Given the description of an element on the screen output the (x, y) to click on. 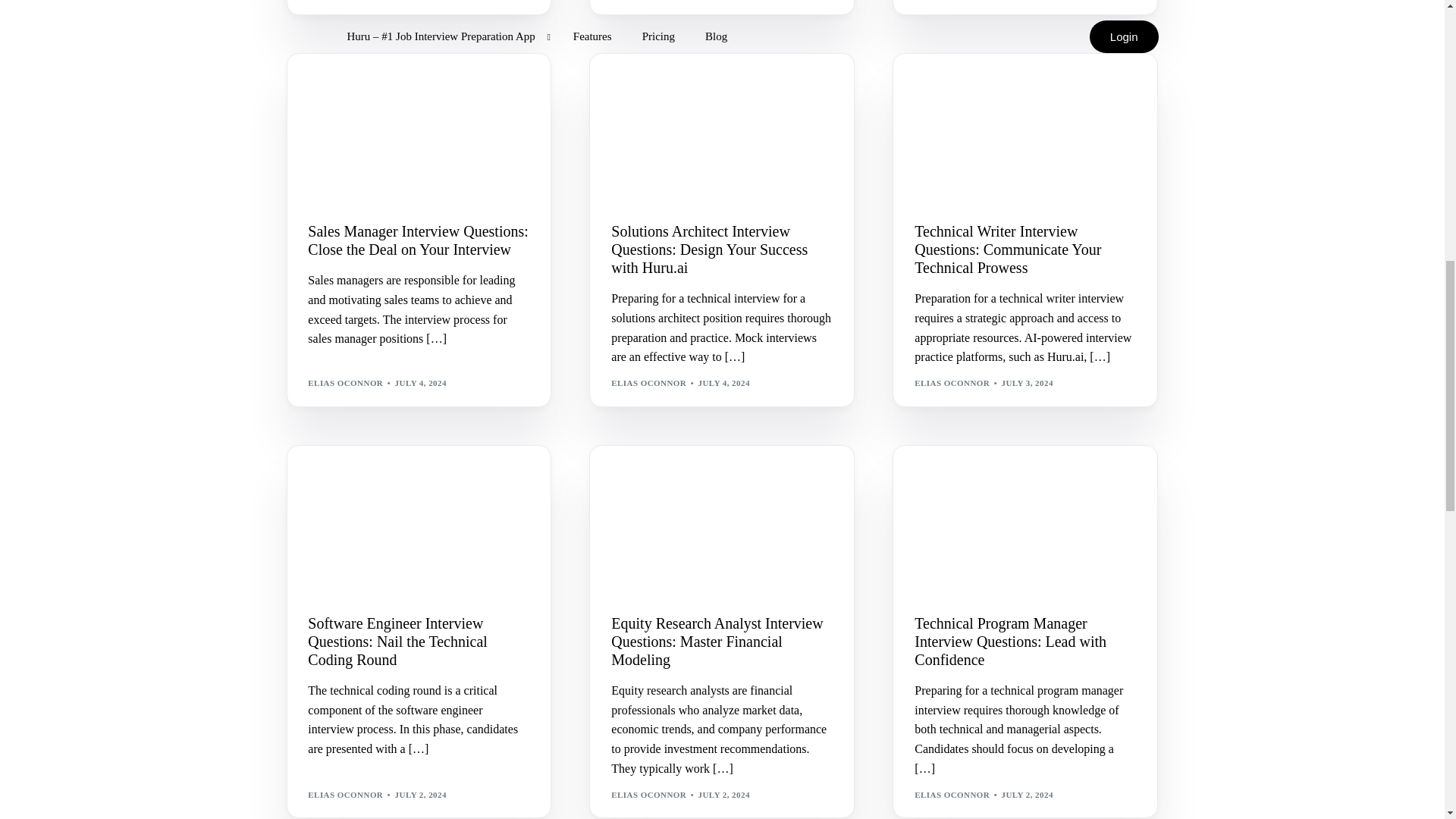
ELIAS OCONNOR (648, 382)
ELIAS OCONNOR (952, 382)
ELIAS OCONNOR (344, 382)
Posts by Elias Oconnor (344, 382)
